Given the description of an element on the screen output the (x, y) to click on. 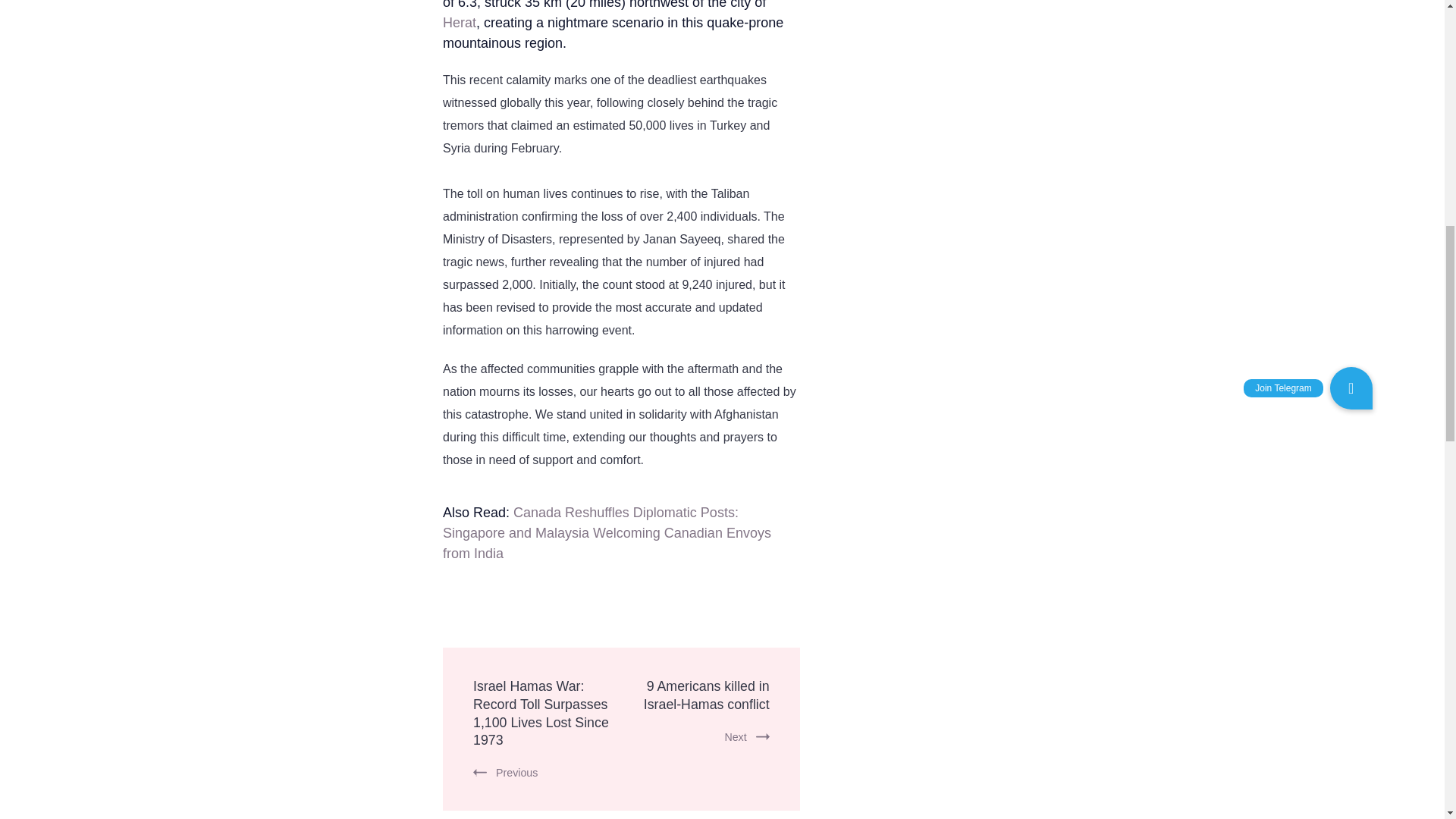
Next (745, 736)
9 Americans killed in Israel-Hamas conflict (706, 694)
Herat (459, 22)
Previous (505, 772)
